Given the description of an element on the screen output the (x, y) to click on. 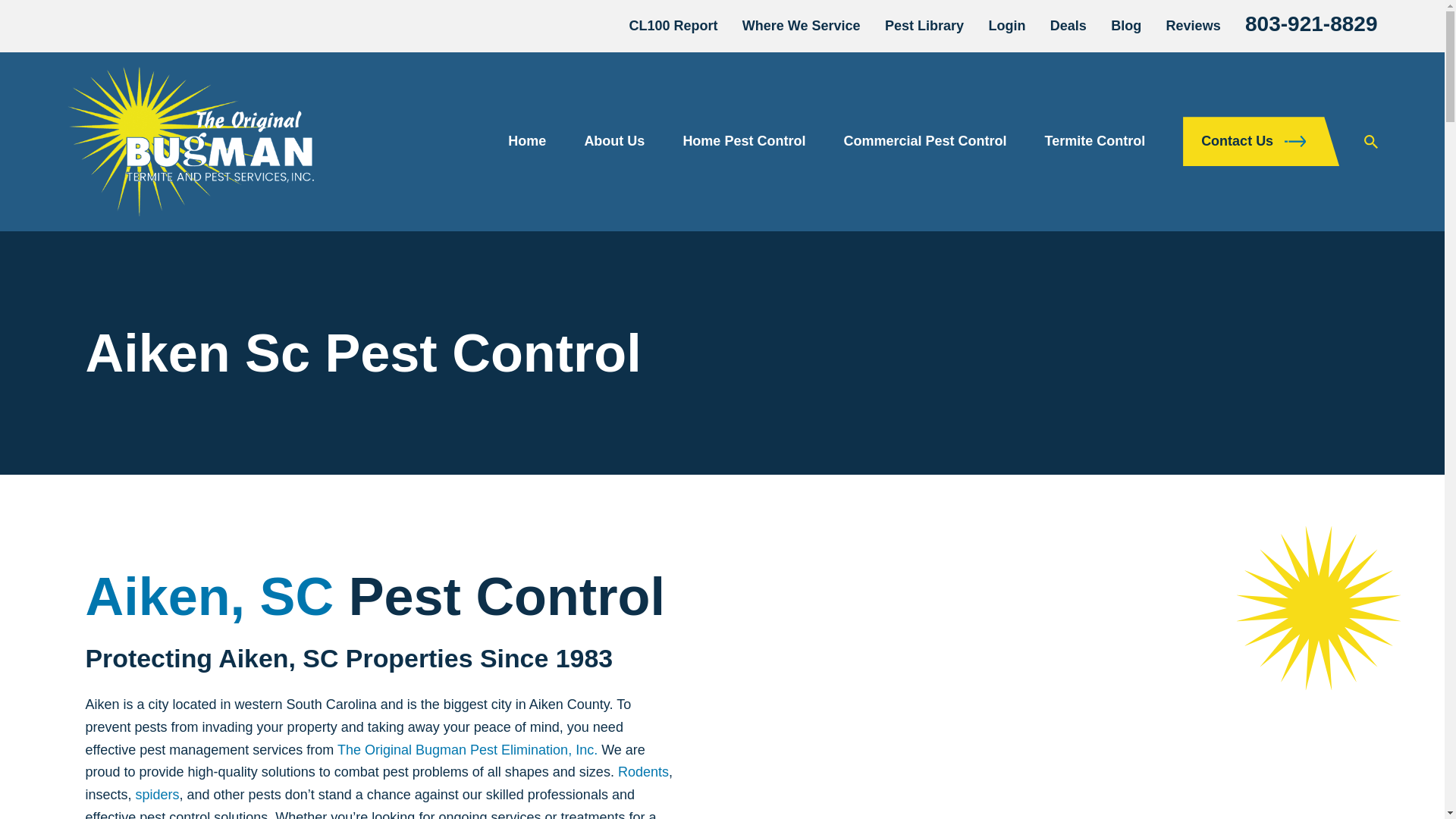
Home (190, 141)
Pest Library (924, 25)
Termite Control (1093, 140)
Blog (1125, 25)
Where We Service (801, 25)
Commercial Pest Control (924, 140)
803-921-8829 (1310, 24)
Login (1006, 25)
Reviews (1193, 25)
Home Pest Control (743, 140)
